Given the description of an element on the screen output the (x, y) to click on. 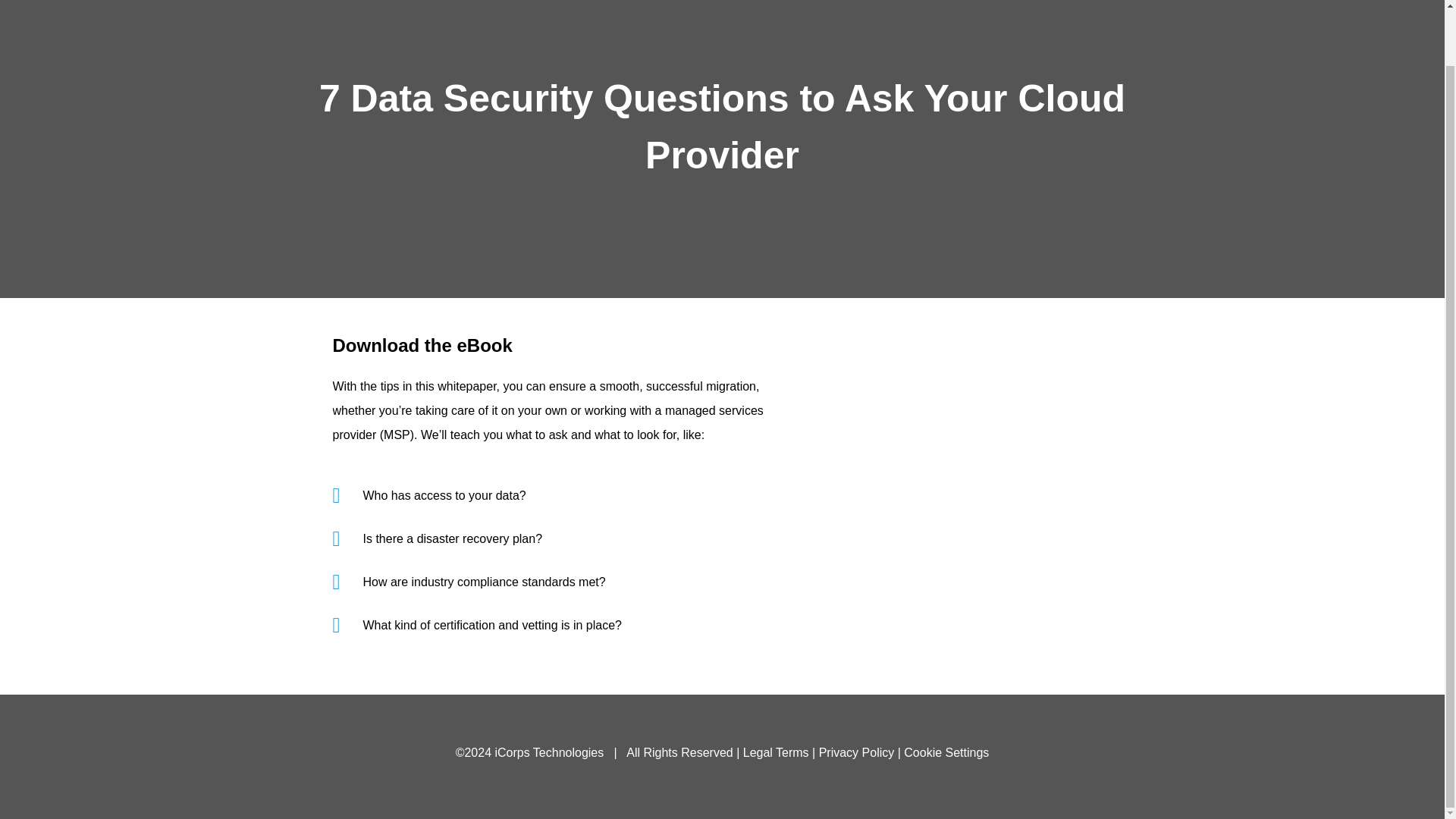
Legal Terms (775, 752)
Privacy Policy (856, 752)
Cookie Settings (946, 752)
